Given the description of an element on the screen output the (x, y) to click on. 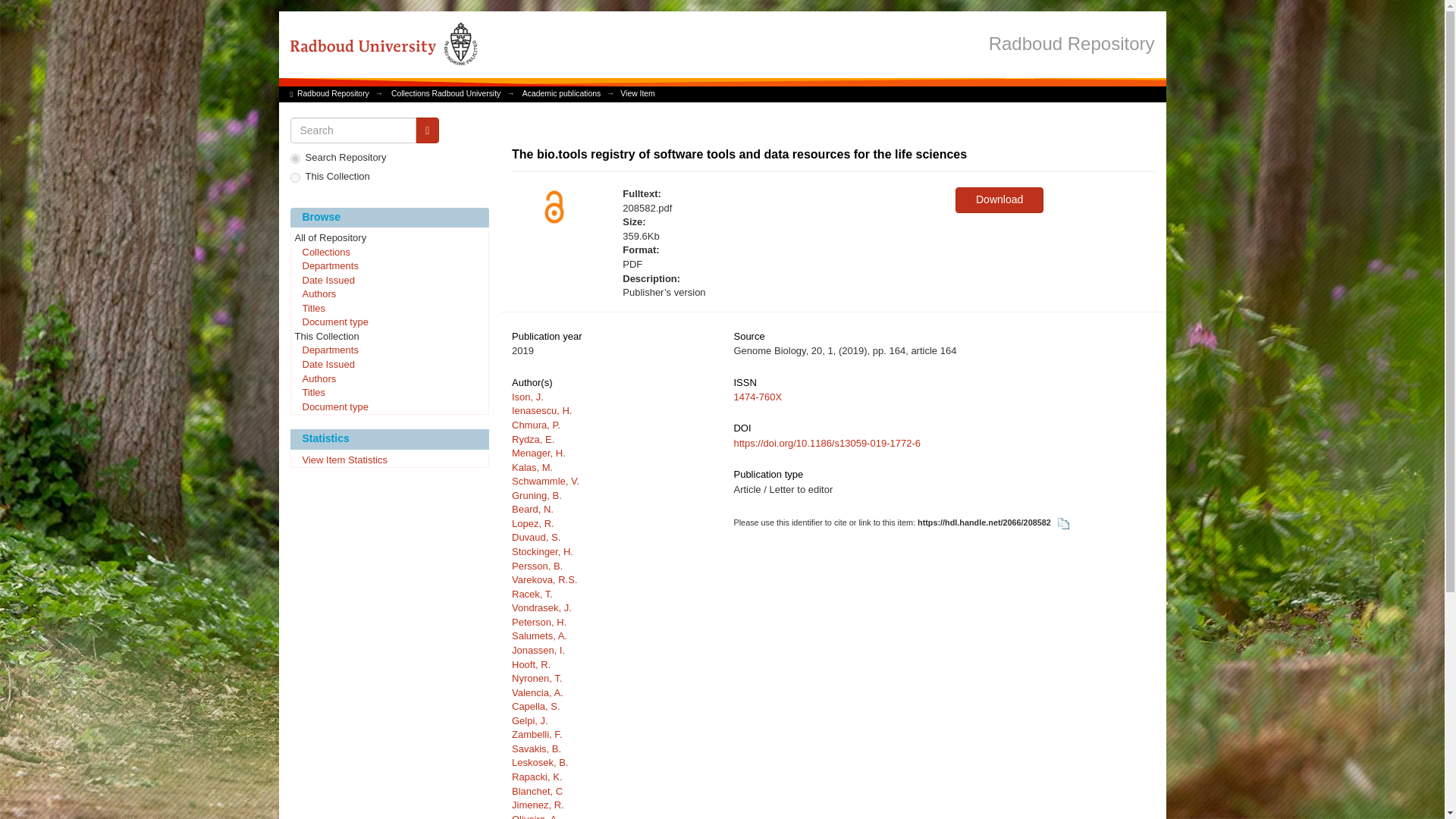
Go (426, 130)
Document type (389, 407)
Authors (389, 294)
Statistics (389, 438)
Departments (389, 266)
Schwammle, V. (545, 480)
Academic publications (560, 93)
Titles (389, 309)
Date Issued (389, 281)
Chmura, P. (536, 424)
